Given the description of an element on the screen output the (x, y) to click on. 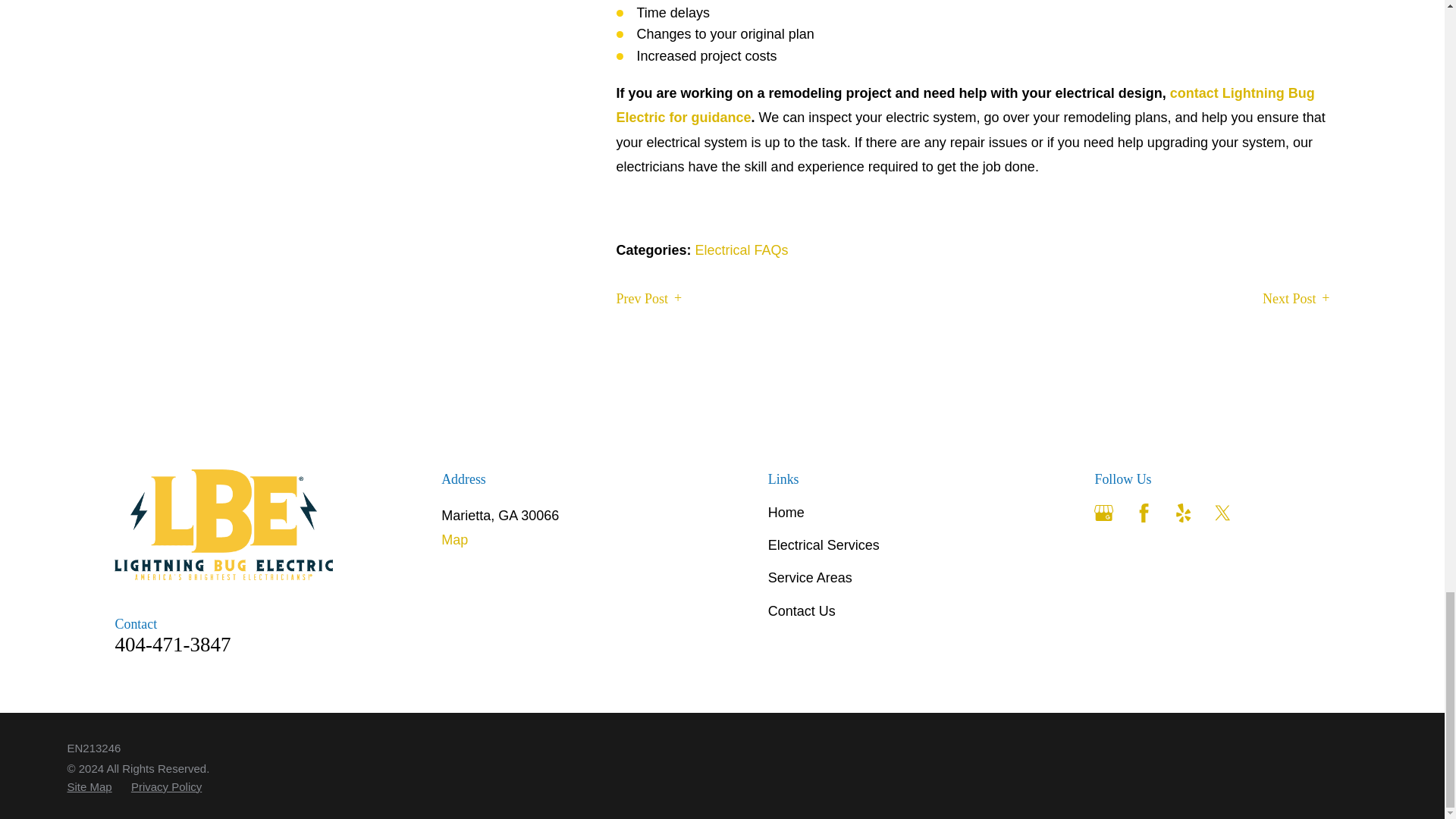
Home (232, 524)
Lightning Bug Electric (224, 524)
Facebook (1143, 512)
Google Business Profile (1103, 512)
Yelp (1182, 512)
Twitter (1221, 512)
